Given the description of an element on the screen output the (x, y) to click on. 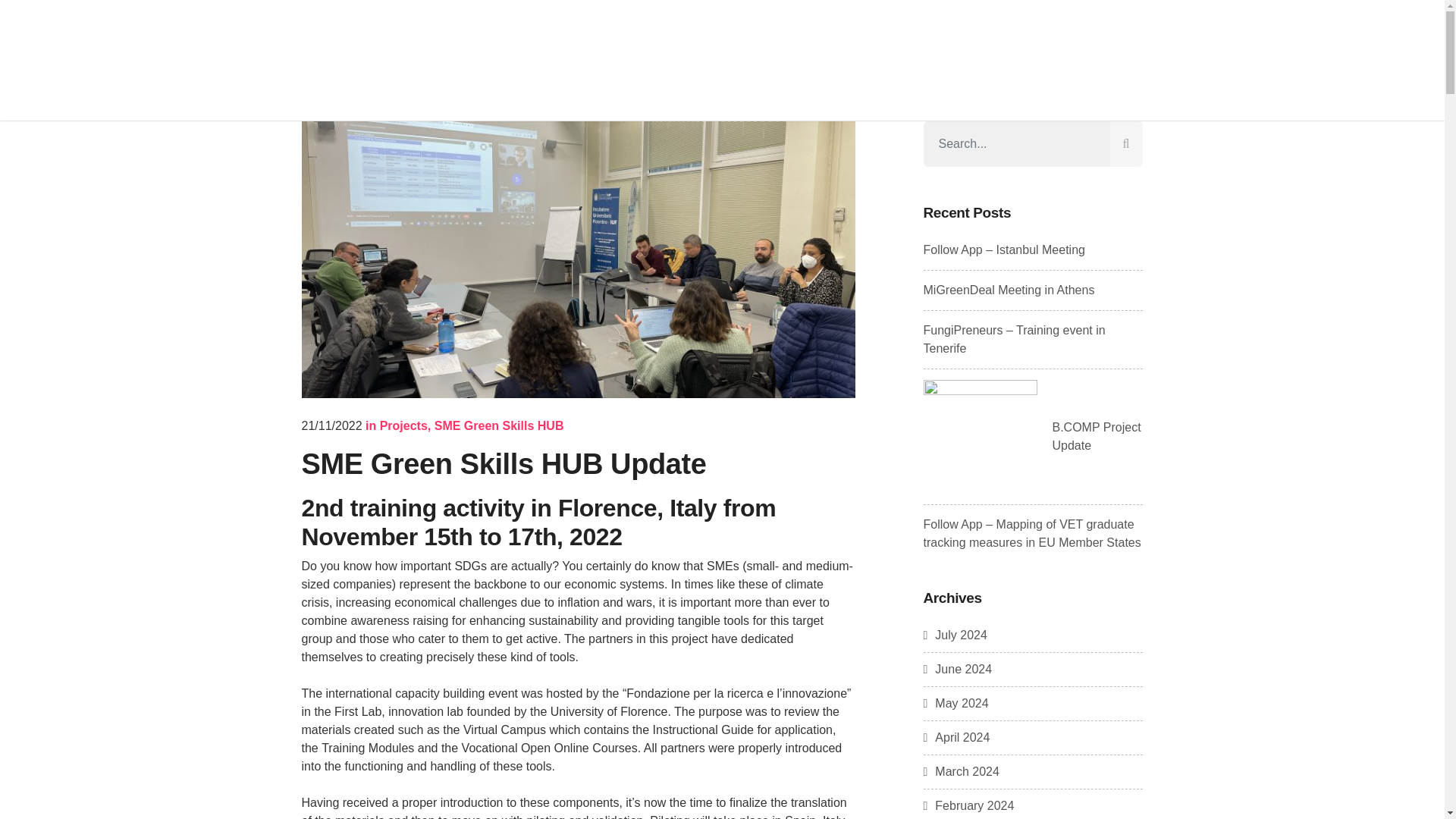
May 2024 (955, 703)
SME Green Skills HUB (498, 425)
June 2024 (957, 668)
March 2024 (960, 771)
February 2024 (968, 805)
MiGreenDeal Meeting in Athens (1008, 289)
April 2024 (956, 737)
July 2024 (955, 634)
Projects (404, 425)
B.COMP Project Update (1096, 436)
